Given the description of an element on the screen output the (x, y) to click on. 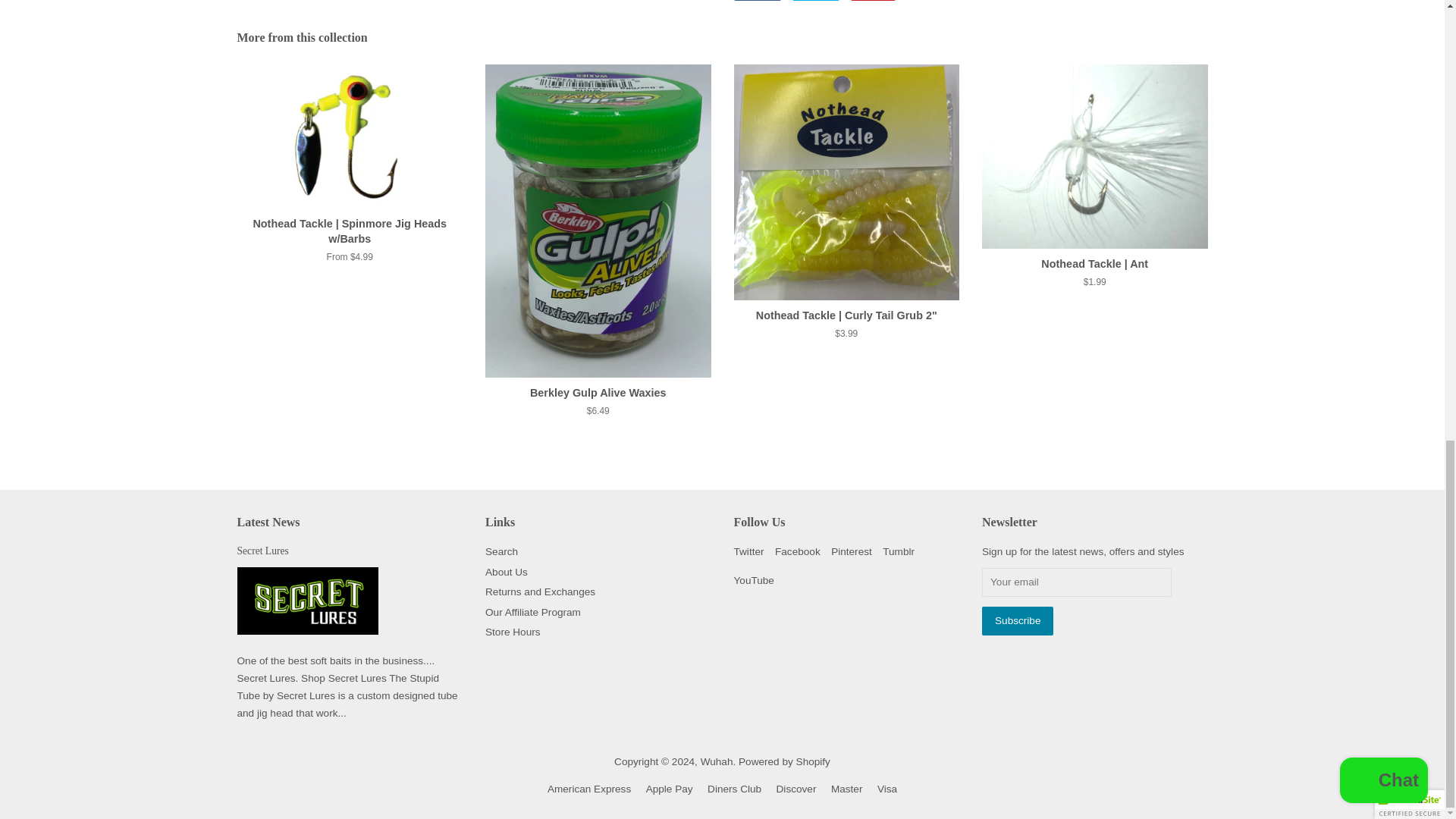
Tweet on Twitter (816, 0)
Share on Facebook (757, 0)
Pin on Pinterest (872, 0)
Wuhah on Tumblr (898, 551)
Subscribe (1016, 620)
Wuhah on Pinterest (851, 551)
Wuhah on Facebook (797, 551)
Wuhah on YouTube (753, 580)
Wuhah on Twitter (748, 551)
